Given the description of an element on the screen output the (x, y) to click on. 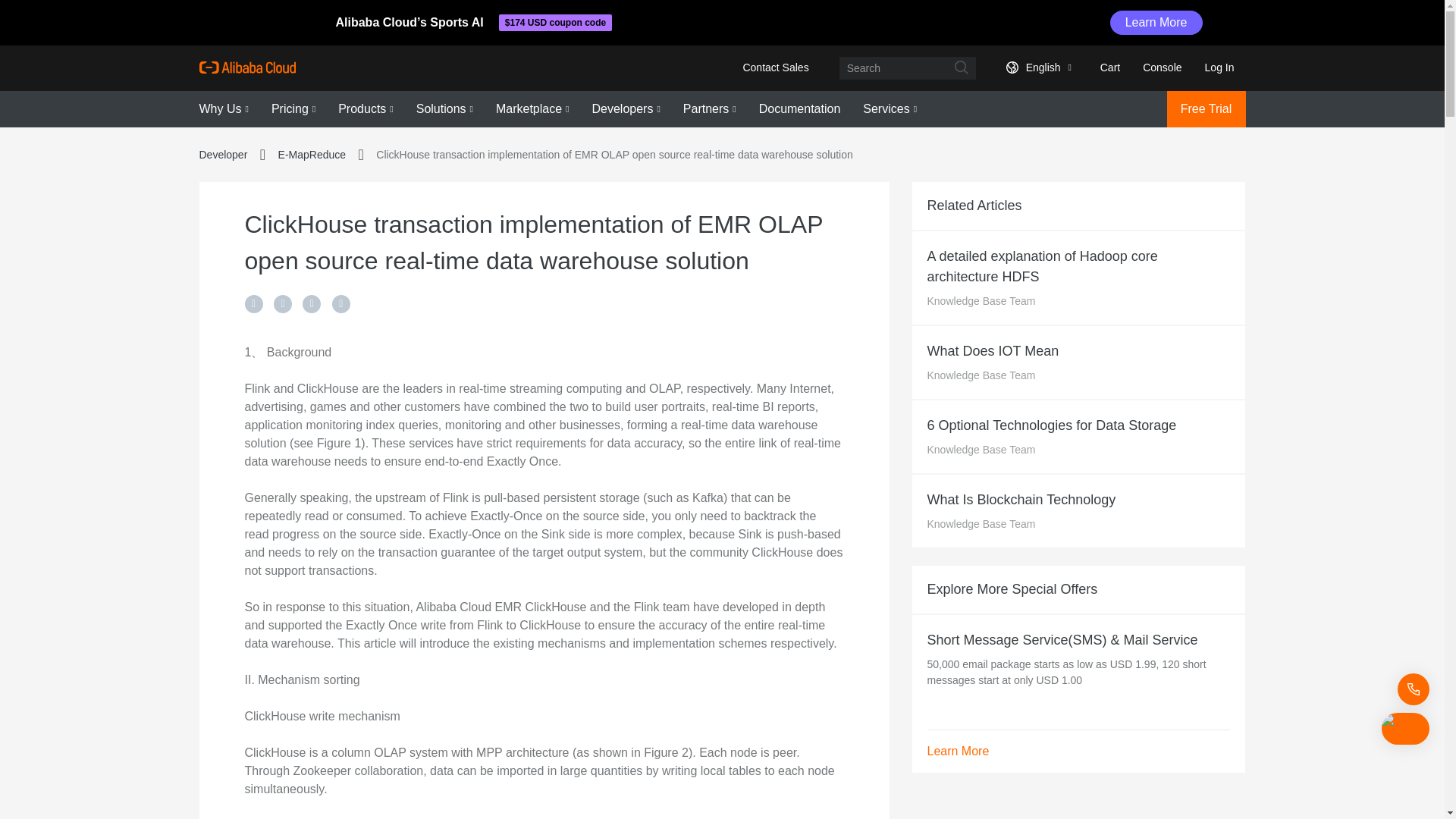
Alibaba Cloud (246, 67)
English (1035, 67)
Contact Sales (774, 67)
